Given the description of an element on the screen output the (x, y) to click on. 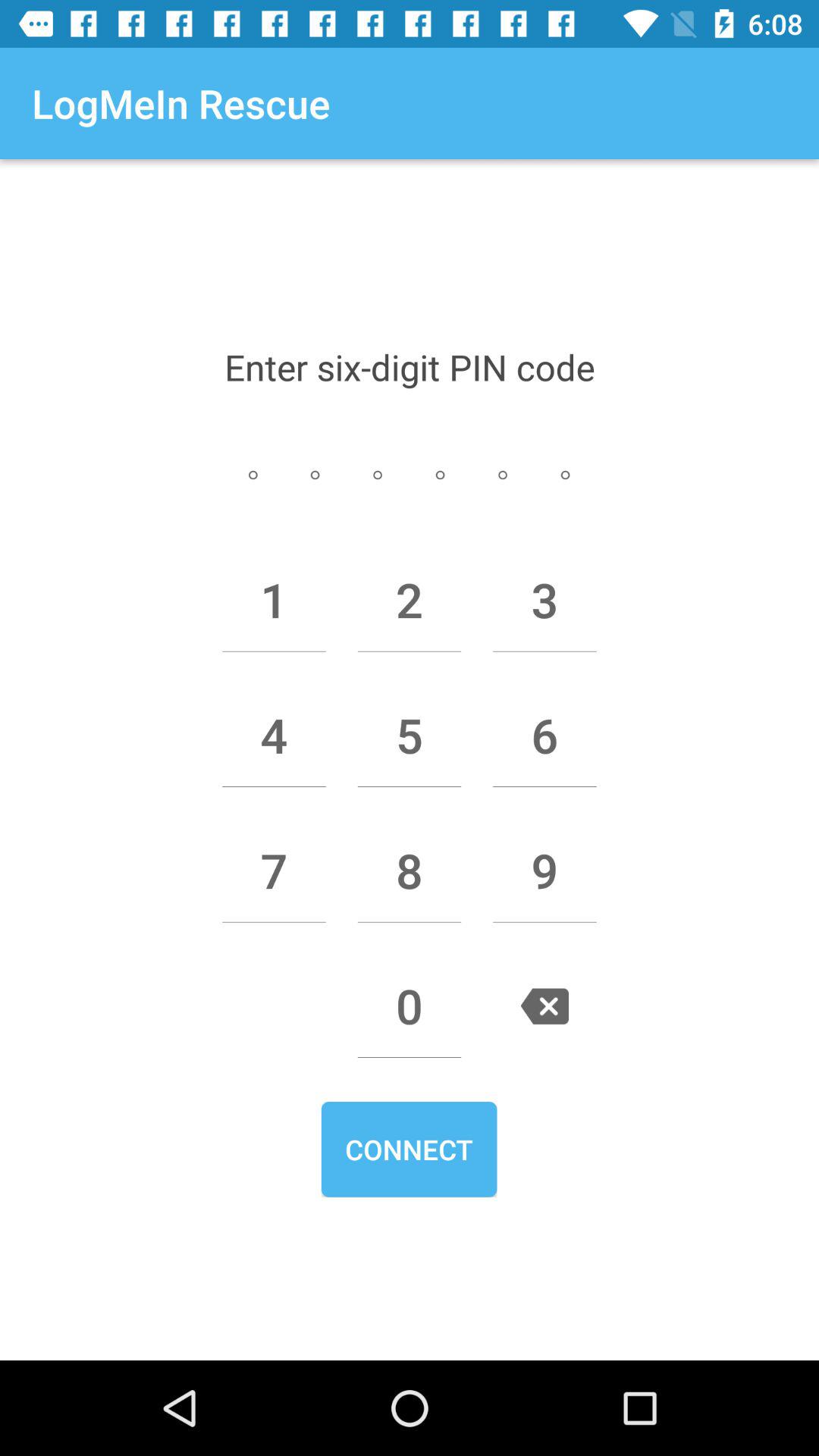
jump to the 1 item (273, 599)
